Given the description of an element on the screen output the (x, y) to click on. 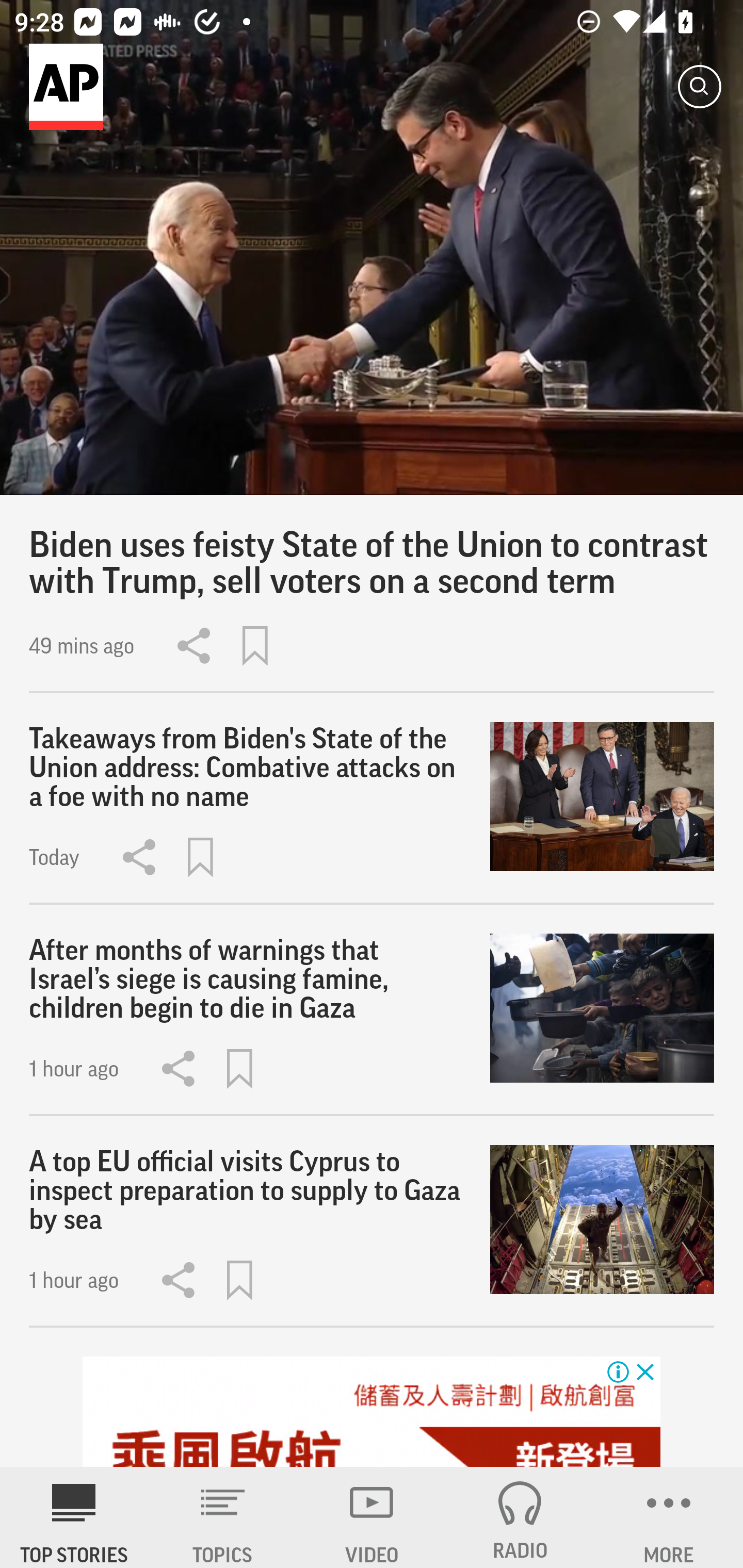
AP News TOP STORIES (74, 1517)
TOPICS (222, 1517)
VIDEO (371, 1517)
RADIO (519, 1517)
MORE (668, 1517)
